Given the description of an element on the screen output the (x, y) to click on. 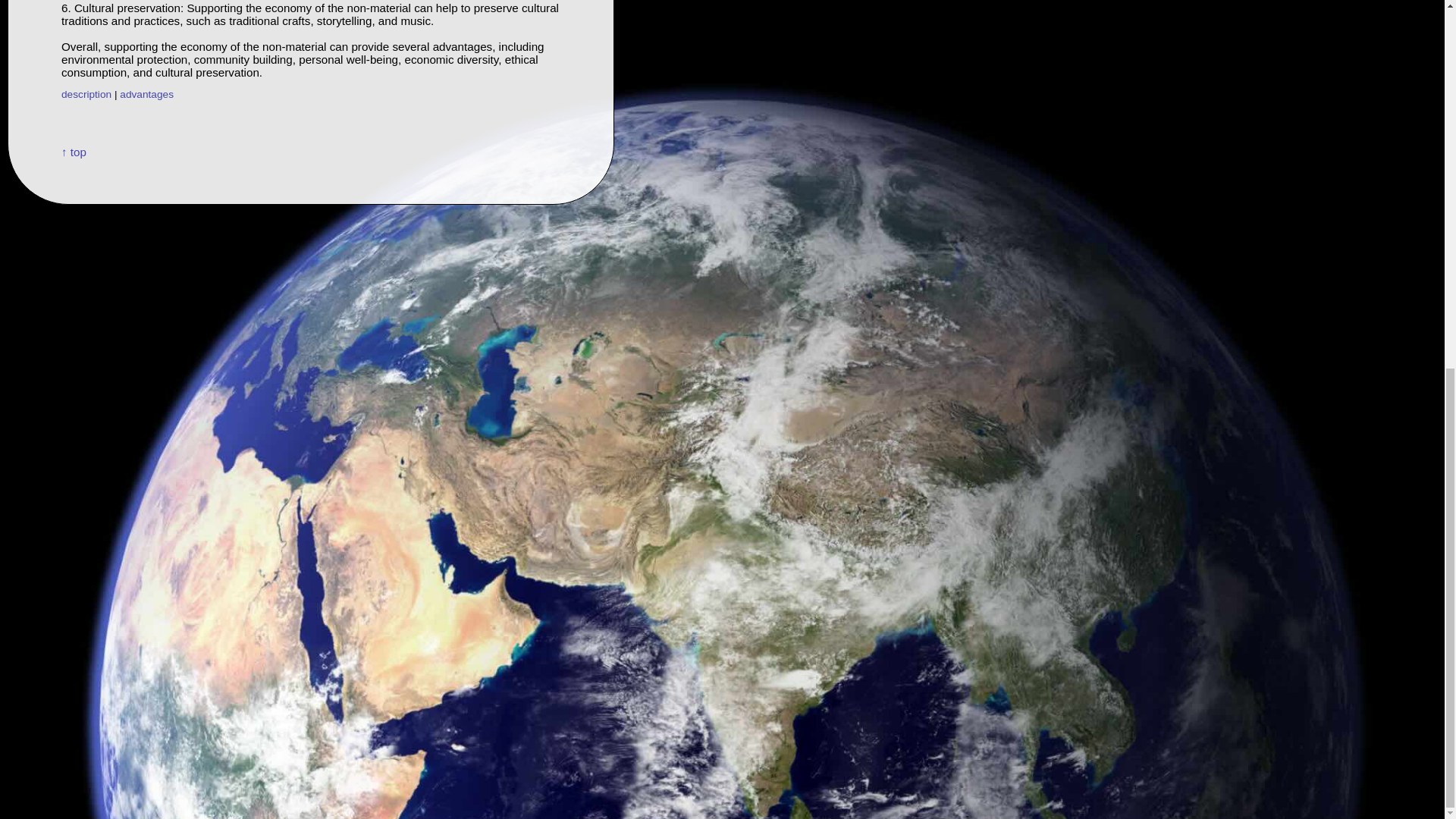
advantages (146, 93)
description (86, 93)
